Given the description of an element on the screen output the (x, y) to click on. 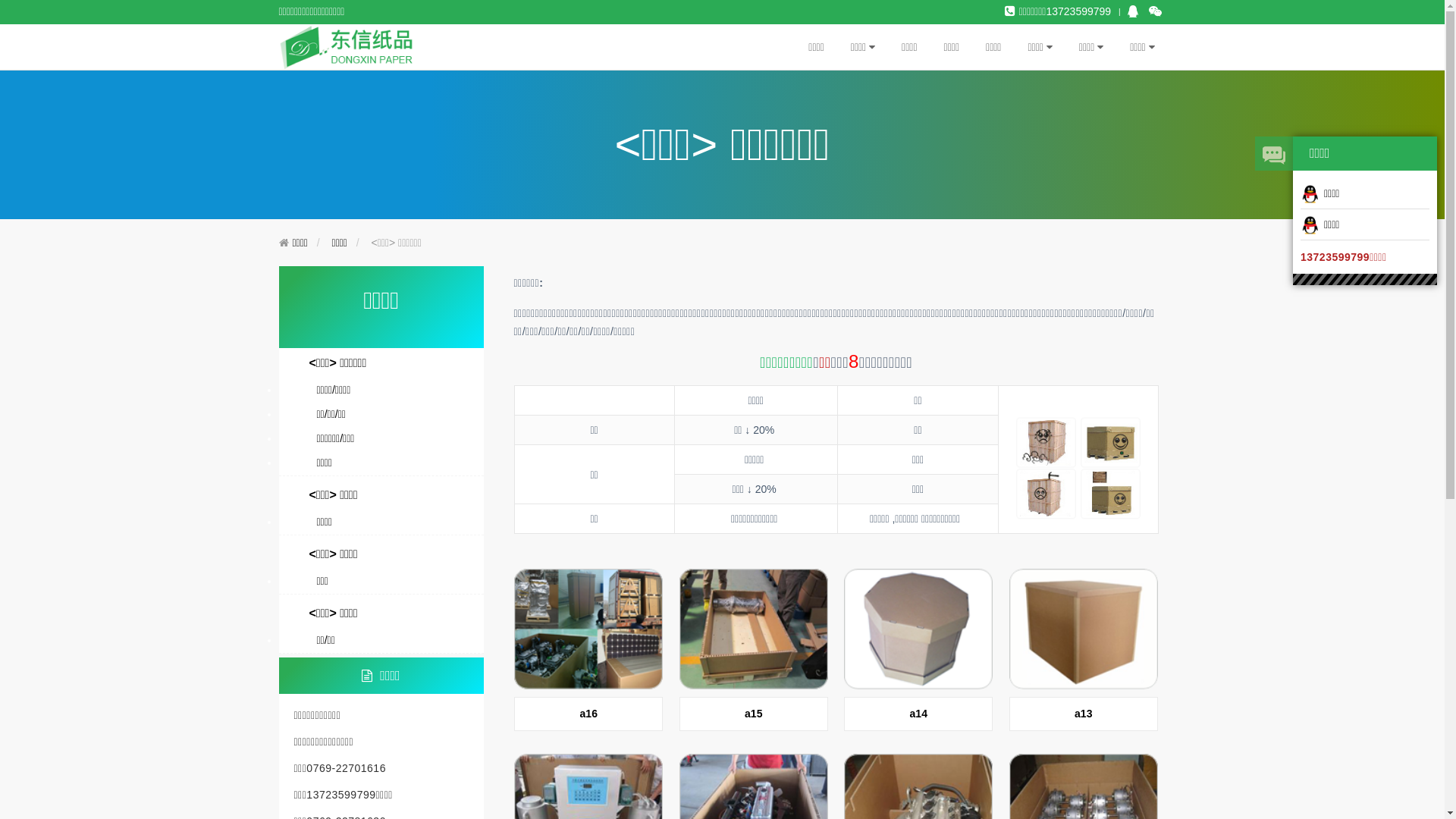
a16 Element type: text (588, 652)
a14 Element type: text (918, 652)
a13 Element type: text (1083, 652)
a15 Element type: text (753, 652)
